Given the description of an element on the screen output the (x, y) to click on. 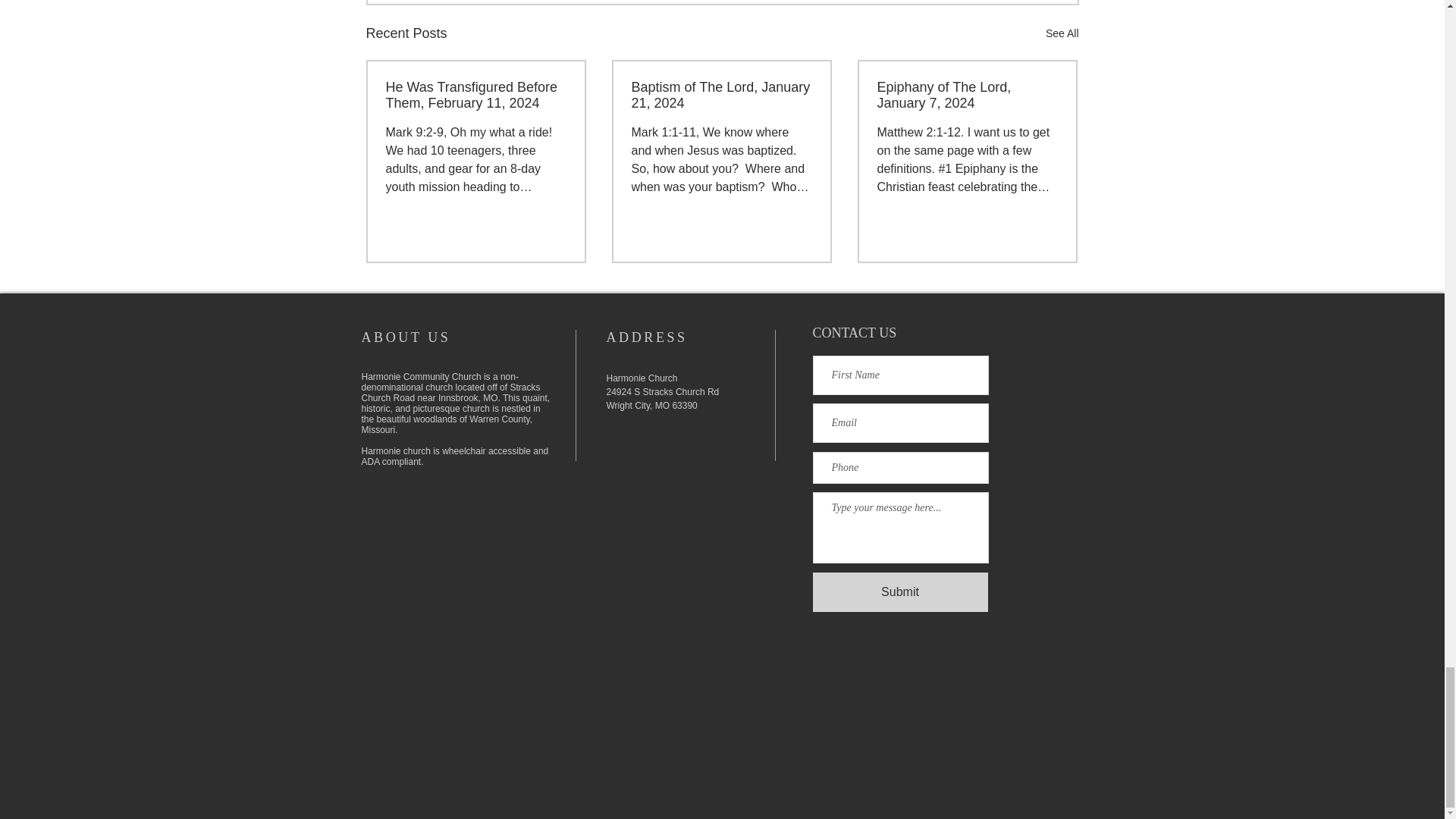
Baptism of The Lord, January 21, 2024 (720, 95)
Submit (900, 591)
Epiphany of The Lord, January 7, 2024 (966, 95)
See All (1061, 33)
He Was Transfigured Before Them, February 11, 2024 (475, 95)
